Given the description of an element on the screen output the (x, y) to click on. 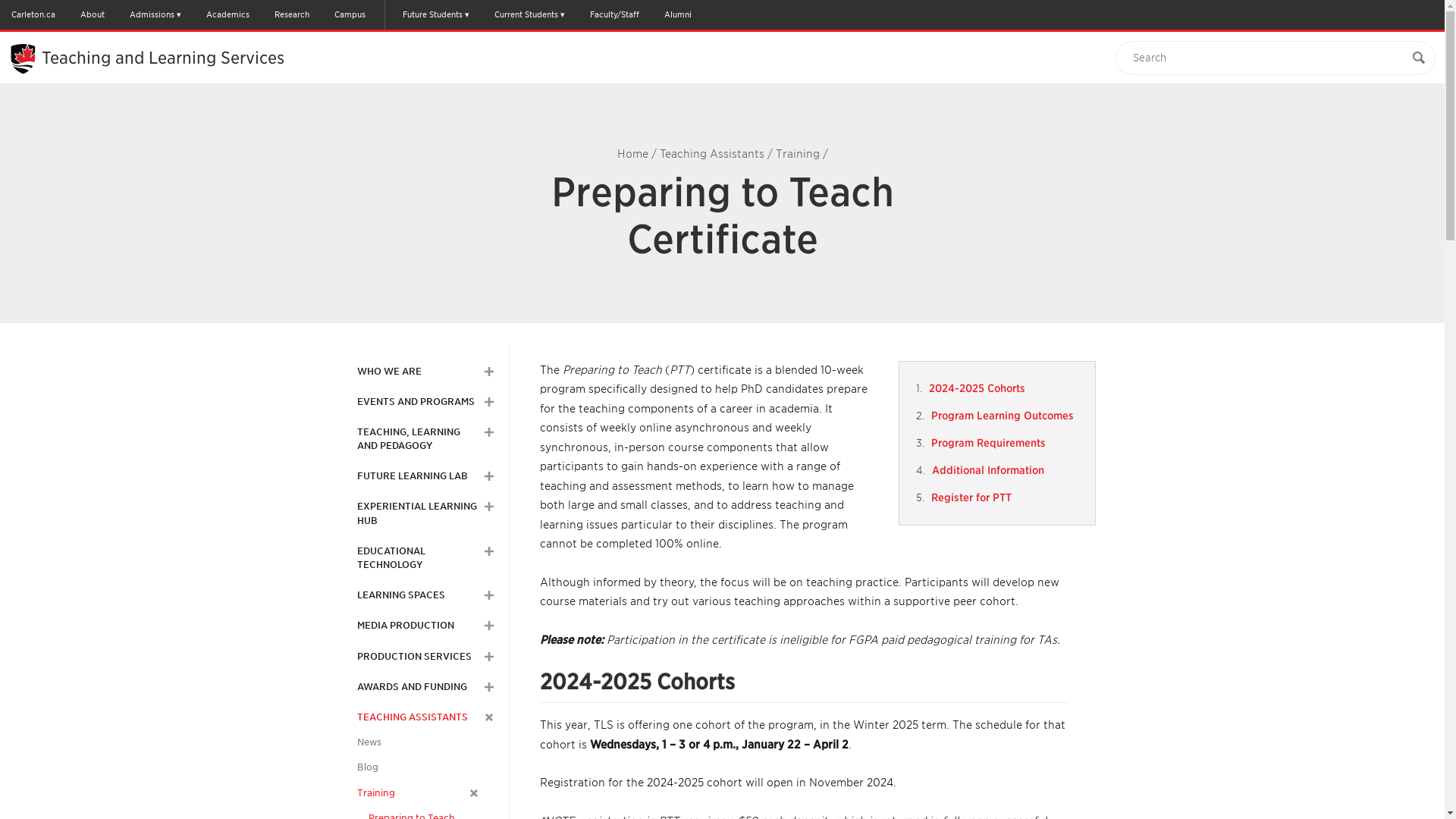
Research (291, 14)
Open submenu for Educational Technology (488, 551)
Campus (349, 14)
Open submenu for Experiential Learning Hub (488, 506)
Open submenu for Teaching, Learning and Pedagogy (488, 431)
Home (632, 153)
Alumni (677, 14)
Carleton.ca (33, 14)
Open submenu for Who We Are (488, 370)
Open submenu for Awards and Funding (488, 686)
